Given the description of an element on the screen output the (x, y) to click on. 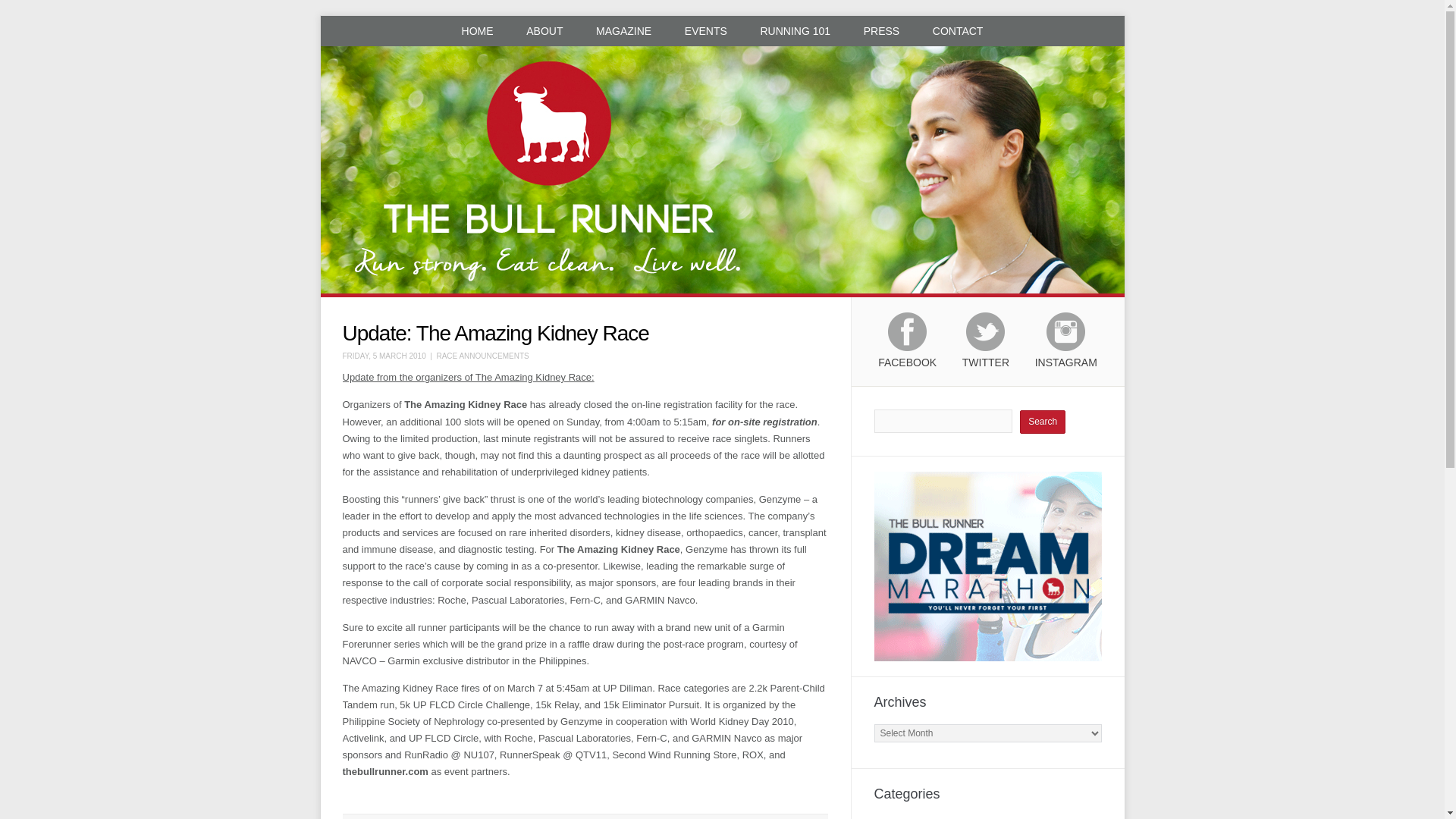
CONTACT (957, 30)
FACEBOOK (906, 348)
TWITTER (985, 348)
RACE ANNOUNCEMENTS (481, 356)
Search (1042, 421)
INSTAGRAM (1066, 348)
HOME (477, 30)
Update: The Amazing Kidney Race (495, 332)
Search (1042, 421)
ABOUT (544, 30)
